Given the description of an element on the screen output the (x, y) to click on. 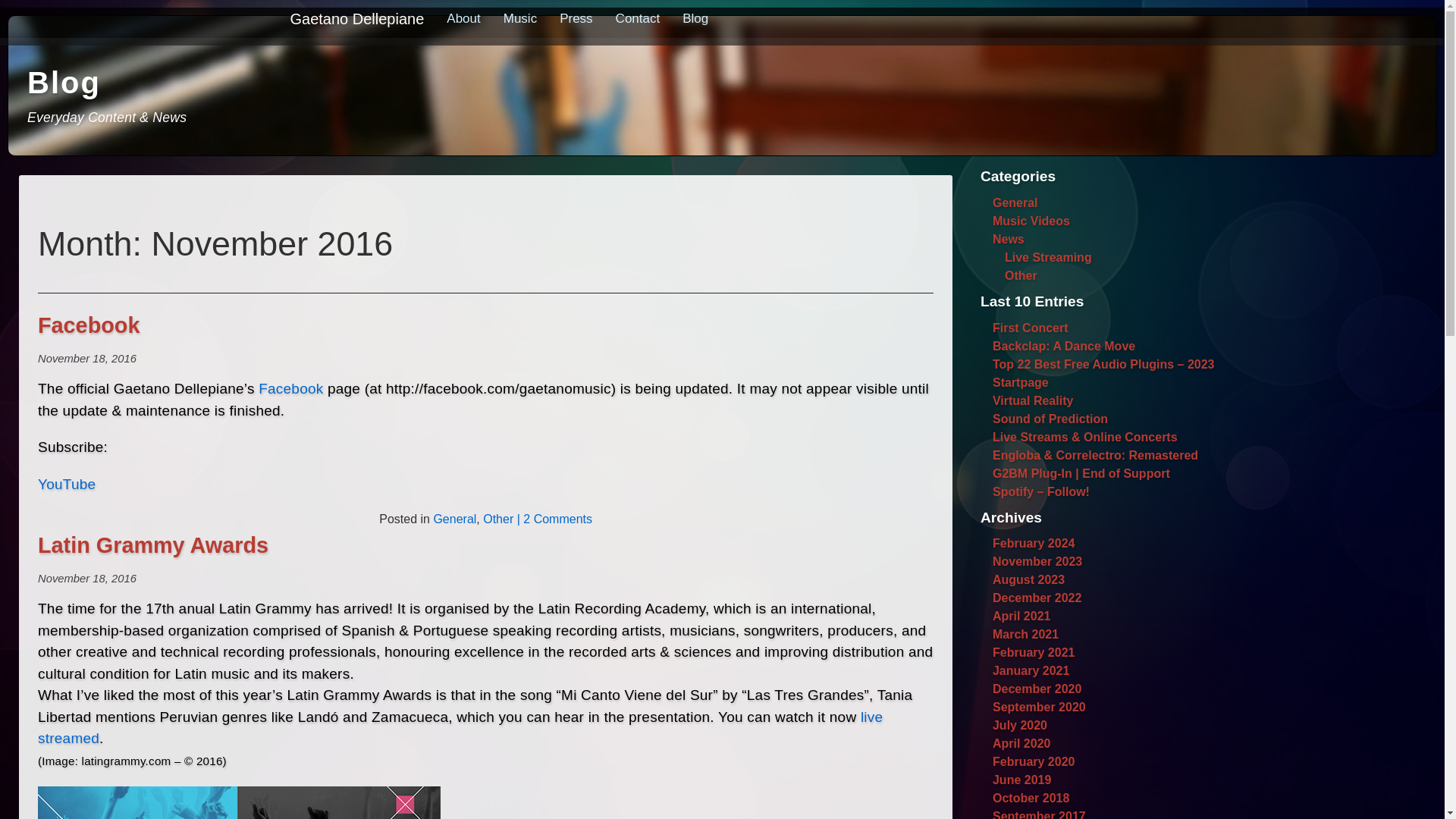
Contact (637, 18)
live streamed (459, 727)
November 18, 2016 (86, 578)
Gaetano Dellepiane (357, 18)
YouTube (66, 483)
Blog (695, 18)
Facebook (88, 324)
Gaetano Dellepiane (362, 18)
About (463, 18)
Other (498, 518)
General (454, 518)
Contact (637, 18)
Latin Grammy Awards (152, 545)
lgrammys.png (239, 802)
